Given the description of an element on the screen output the (x, y) to click on. 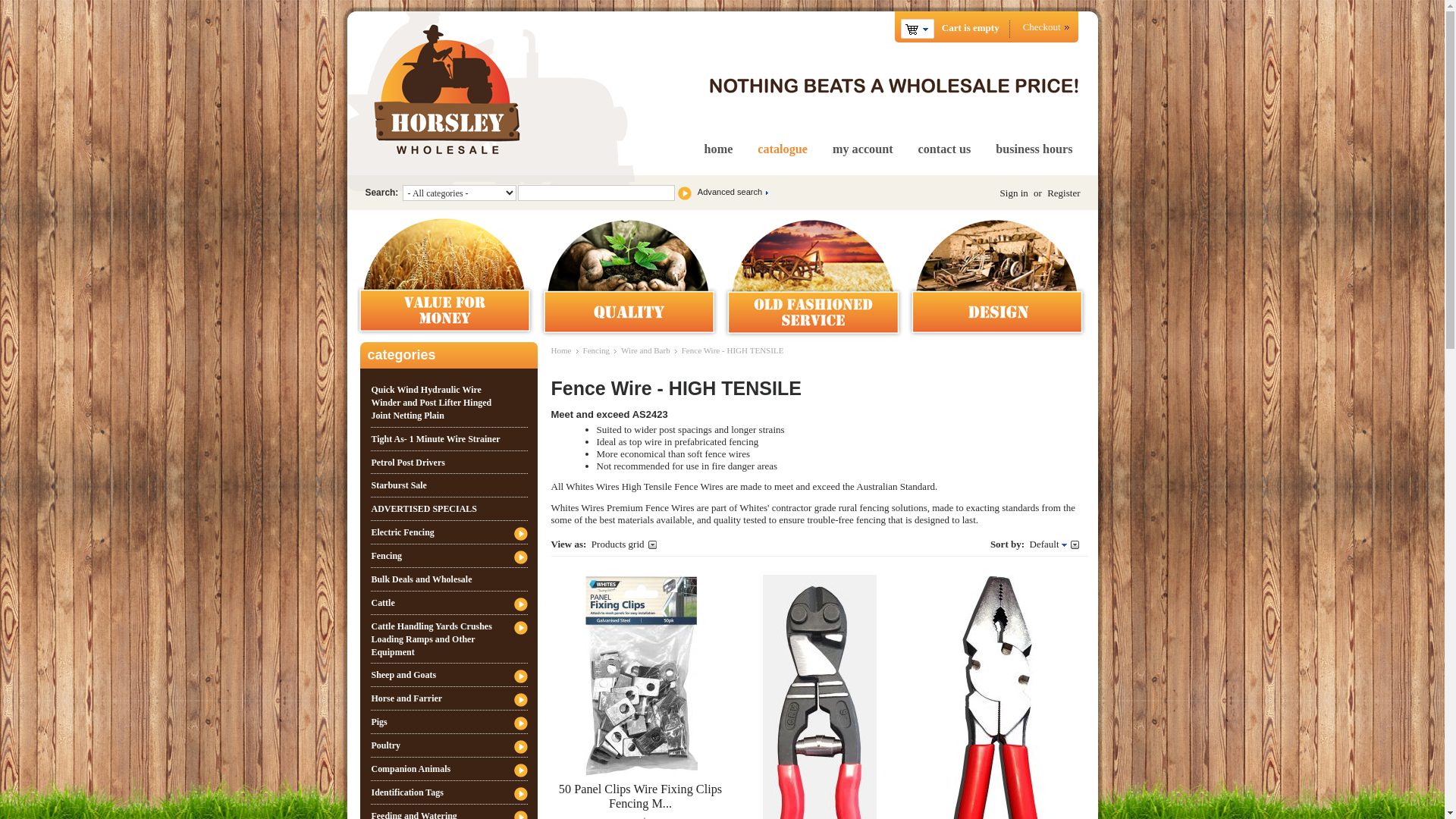
Fencing Element type: text (448, 555)
Register Element type: text (1063, 192)
Sheep and Goats Element type: text (448, 674)
Search Element type: hover (683, 192)
catalogue Element type: text (782, 149)
Cattle Element type: text (448, 602)
ADVERTISED SPECIALS Element type: text (448, 508)
50 Panel Clips Wire Fixing Clips Fencing M... Element type: text (639, 796)
Sign in Element type: text (1014, 192)
Tight As- 1 Minute Wire Strainer Element type: text (448, 438)
Identification Tags Element type: text (448, 792)
my account Element type: text (862, 149)
Products grid Element type: text (623, 543)
Pigs Element type: text (448, 721)
Companion Animals Element type: text (448, 768)
Electric Fencing Element type: text (448, 531)
Starburst Sale Element type: text (448, 484)
business hours Element type: text (1033, 149)
Fencing Element type: text (595, 349)
Horse and Farrier Element type: text (448, 698)
Home Element type: text (560, 349)
Advanced search Element type: text (731, 191)
Wire and Barb Element type: text (645, 349)
Petrol Post Drivers Element type: text (448, 462)
Checkout Element type: text (1045, 27)
Poultry Element type: text (448, 745)
contact us Element type: text (944, 149)
Cart is empty Element type: hover (917, 28)
Bulk Deals and Wholesale Element type: text (448, 578)
Default Element type: text (1047, 543)
home Element type: text (718, 149)
